Given the description of an element on the screen output the (x, y) to click on. 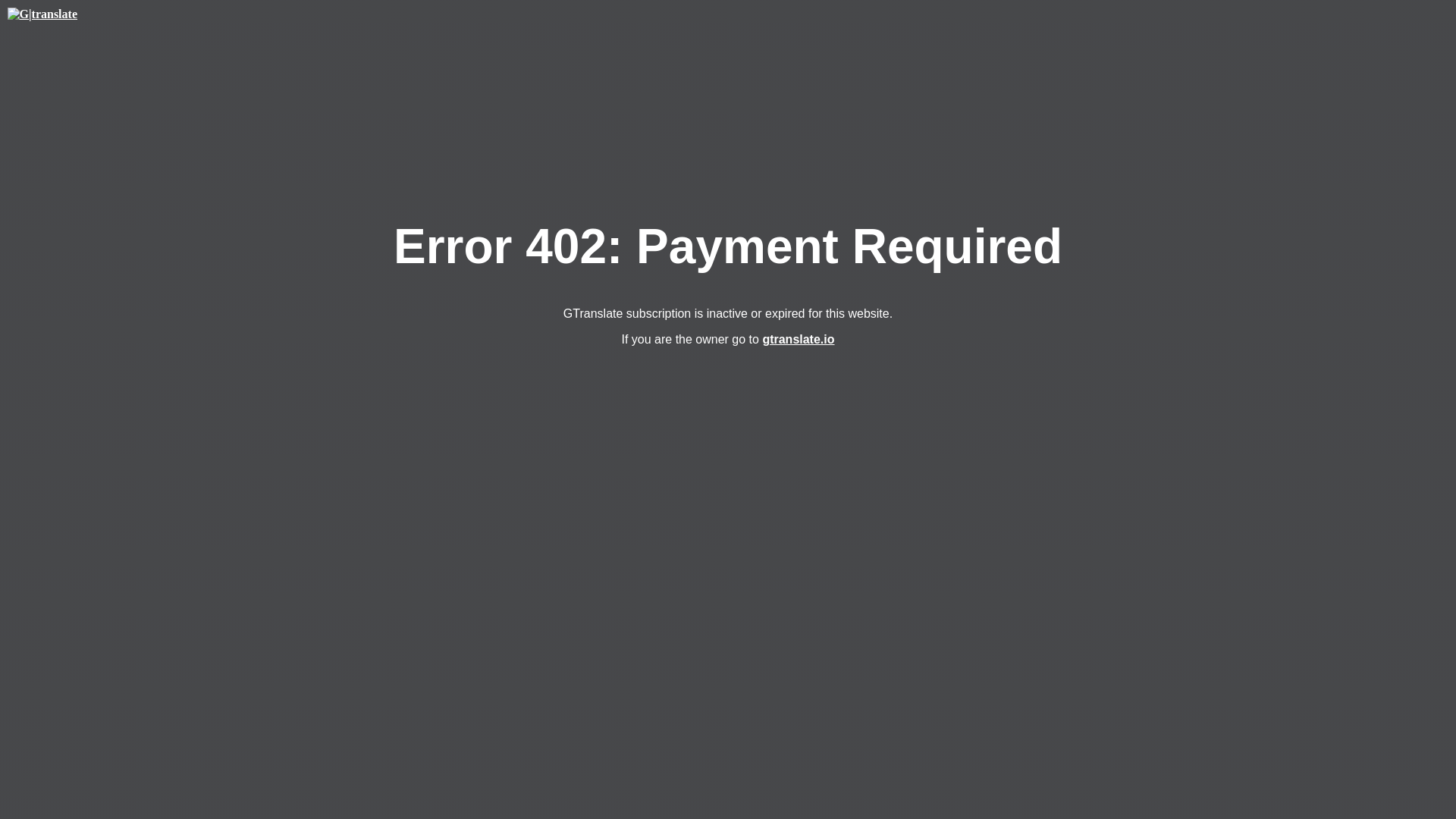
gtranslate.io (797, 338)
